Given the description of an element on the screen output the (x, y) to click on. 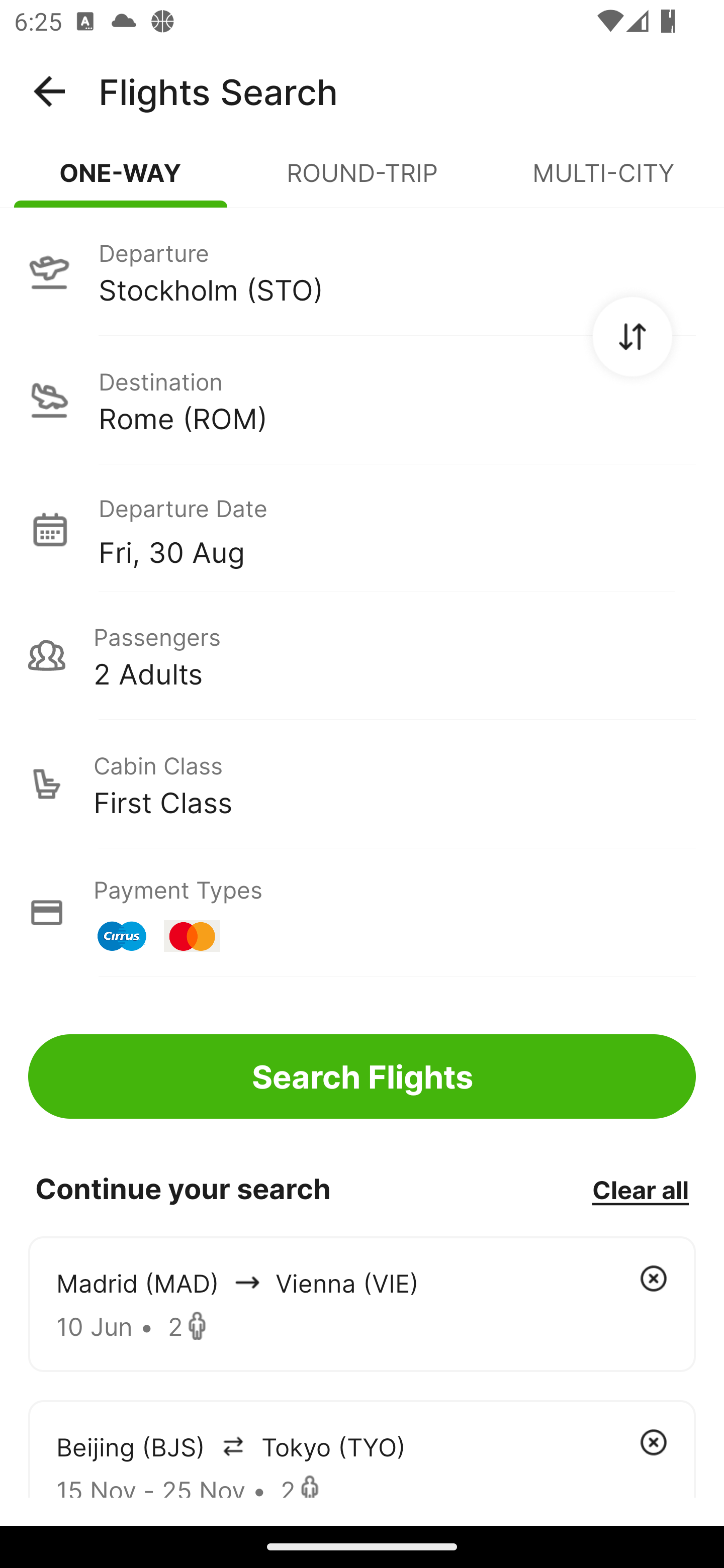
ONE-WAY (120, 180)
ROUND-TRIP (361, 180)
MULTI-CITY (603, 180)
Departure Stockholm (STO) (362, 270)
Destination Rome (ROM) (362, 400)
Departure Date Fri, 30 Aug (396, 528)
Passengers 2 Adults (362, 655)
Cabin Class First Class (362, 783)
Payment Types (362, 912)
Search Flights (361, 1075)
Clear all (640, 1189)
Madrid (MAD)  arrowIcon  Vienna (VIE) 10 Jun •  2  (361, 1303)
